Given the description of an element on the screen output the (x, y) to click on. 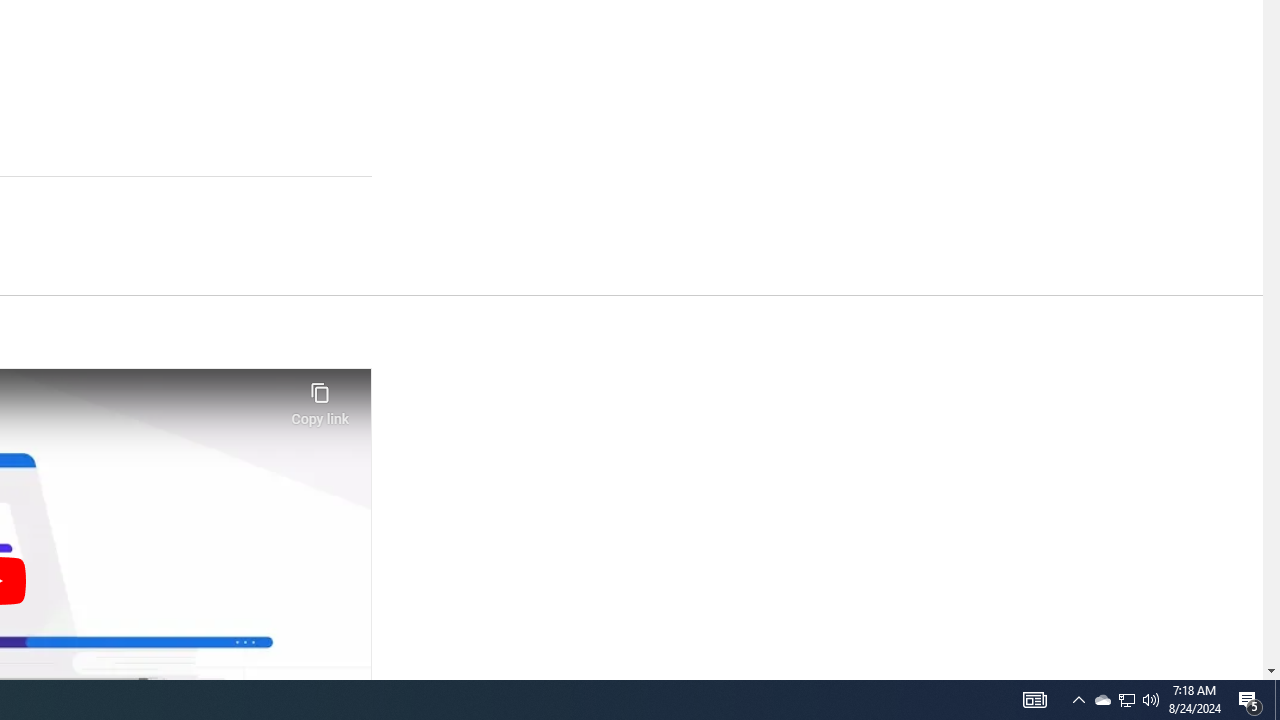
Copy link (319, 398)
